Given the description of an element on the screen output the (x, y) to click on. 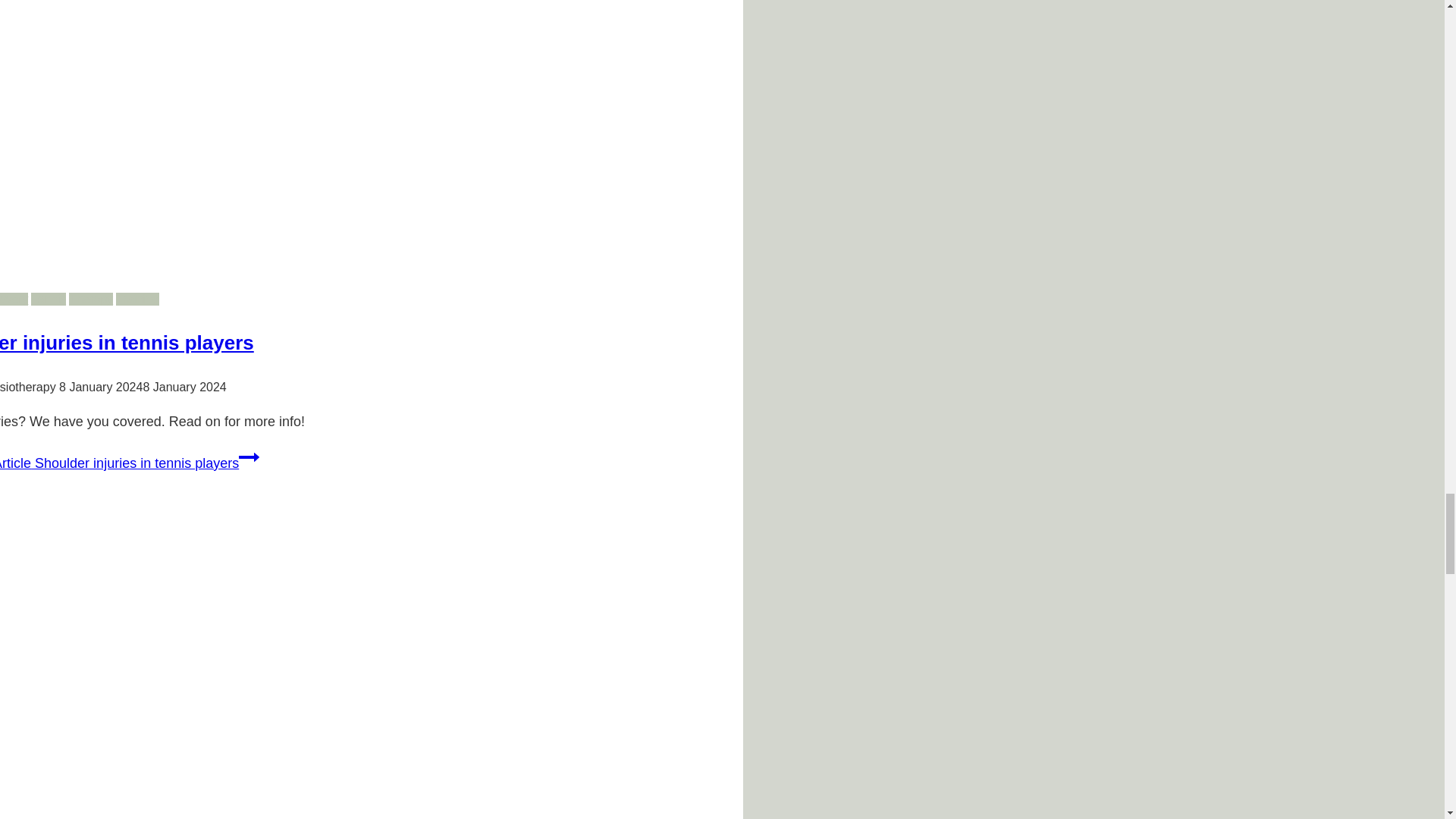
Therapy (90, 298)
Recovery (14, 298)
Tennis (47, 298)
Continue (248, 456)
Training (137, 298)
